Given the description of an element on the screen output the (x, y) to click on. 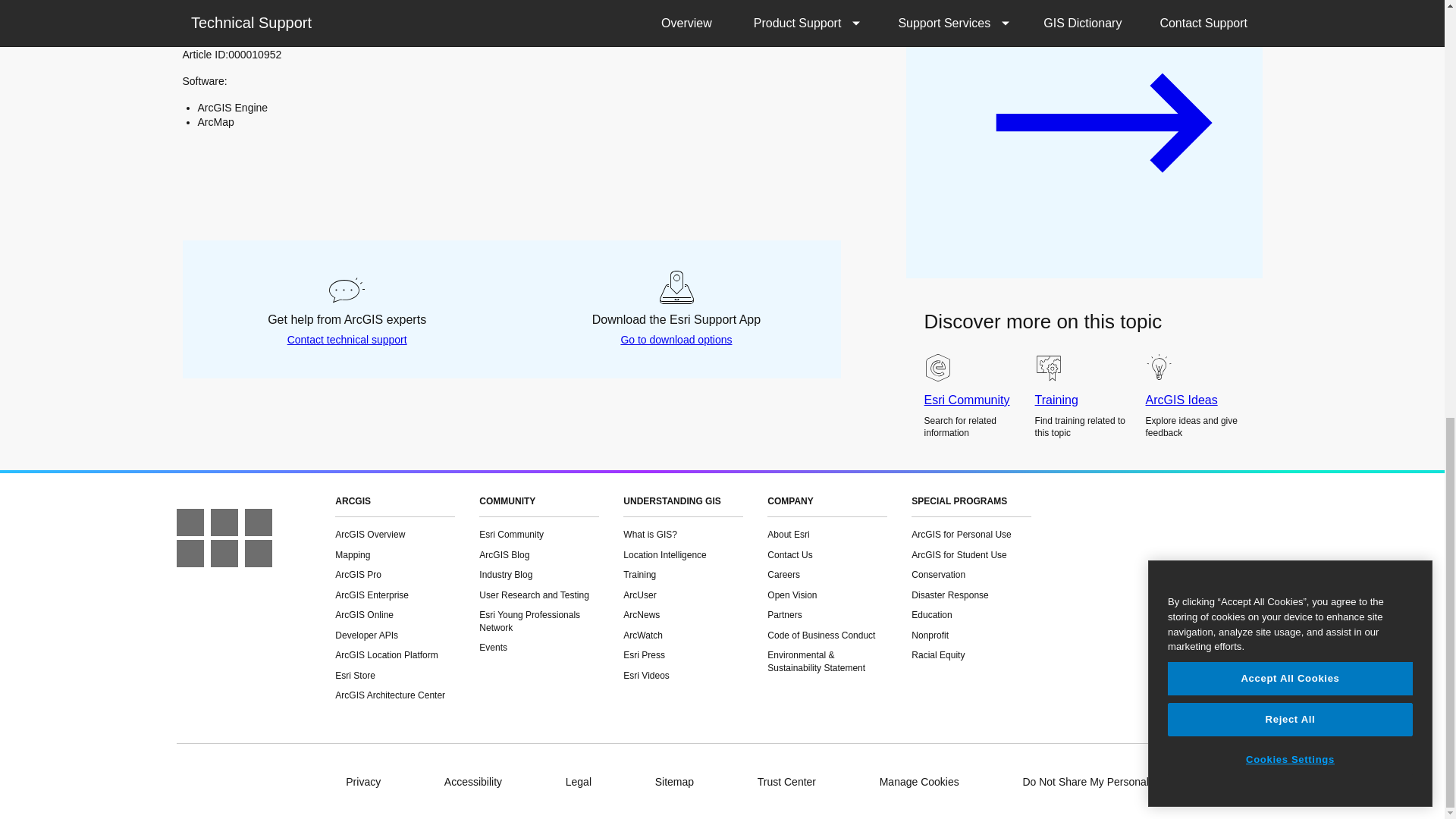
YouTube (257, 553)
Facebook (189, 522)
Instagram (224, 553)
Esri Community (189, 553)
LinkedIn (257, 522)
Twitter (224, 522)
